Given the description of an element on the screen output the (x, y) to click on. 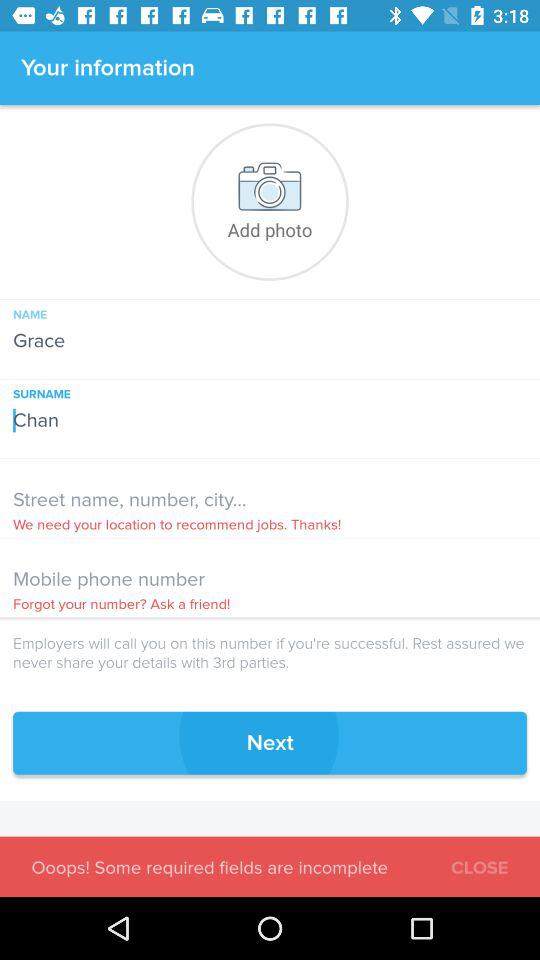
select next (269, 742)
